Given the description of an element on the screen output the (x, y) to click on. 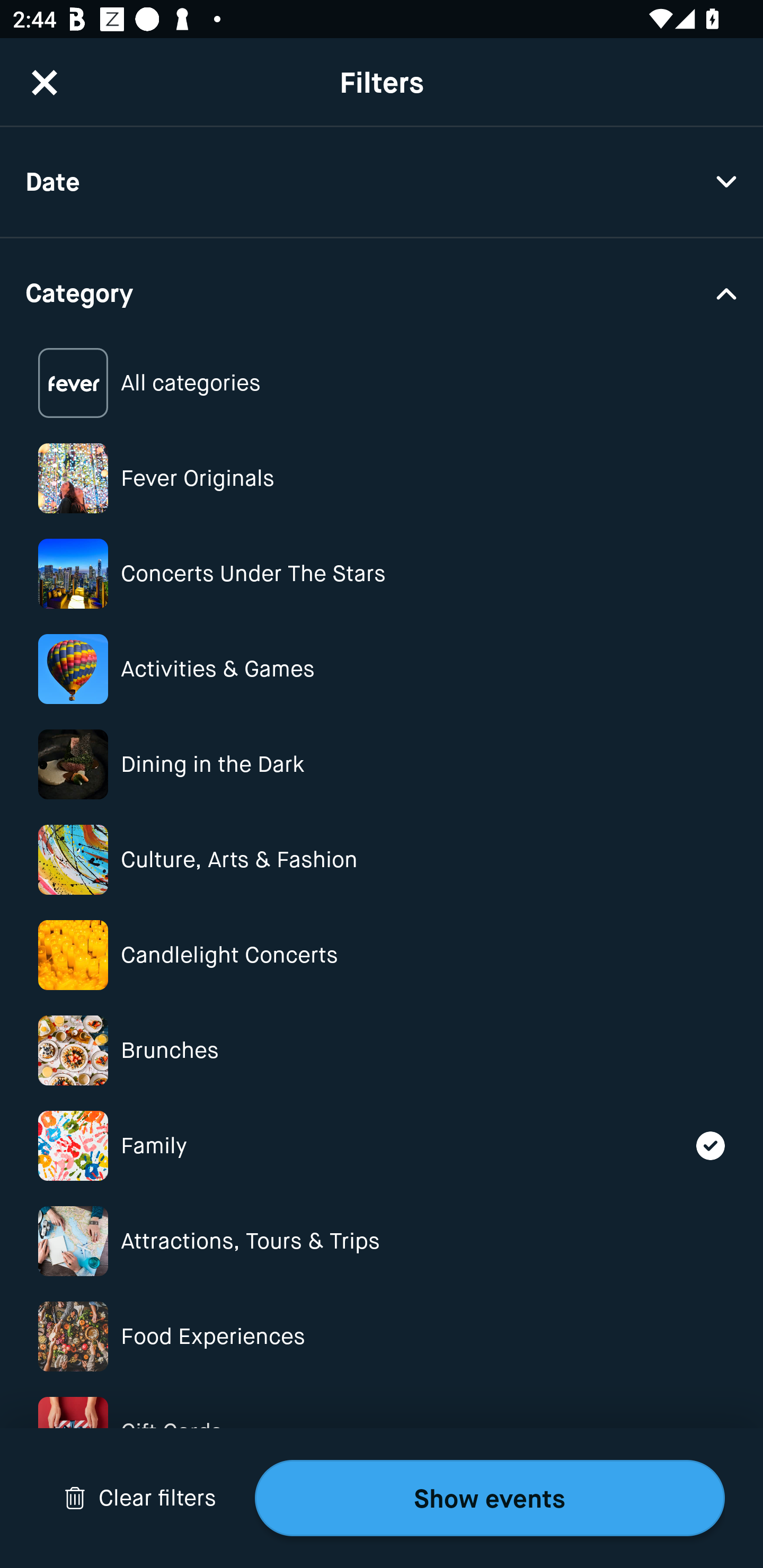
CloseButton (44, 82)
Date Drop Down Arrow (381, 182)
Category Drop Down Arrow (381, 291)
Category Image All categories (381, 382)
Category Image Fever Originals (381, 477)
Category Image Concerts Under The Stars (381, 573)
Category Image Activities & Games (381, 668)
Category Image Dining in the Dark (381, 763)
Category Image Culture, Arts & Fashion (381, 859)
Category Image Candlelight Concerts (381, 954)
Category Image Brunches (381, 1050)
Category Image Family Selected Icon (381, 1145)
Category Image Attractions, Tours & Trips (381, 1240)
Category Image Food Experiences (381, 1336)
Drop Down Arrow Clear filters (139, 1497)
Show events (489, 1497)
